Given the description of an element on the screen output the (x, y) to click on. 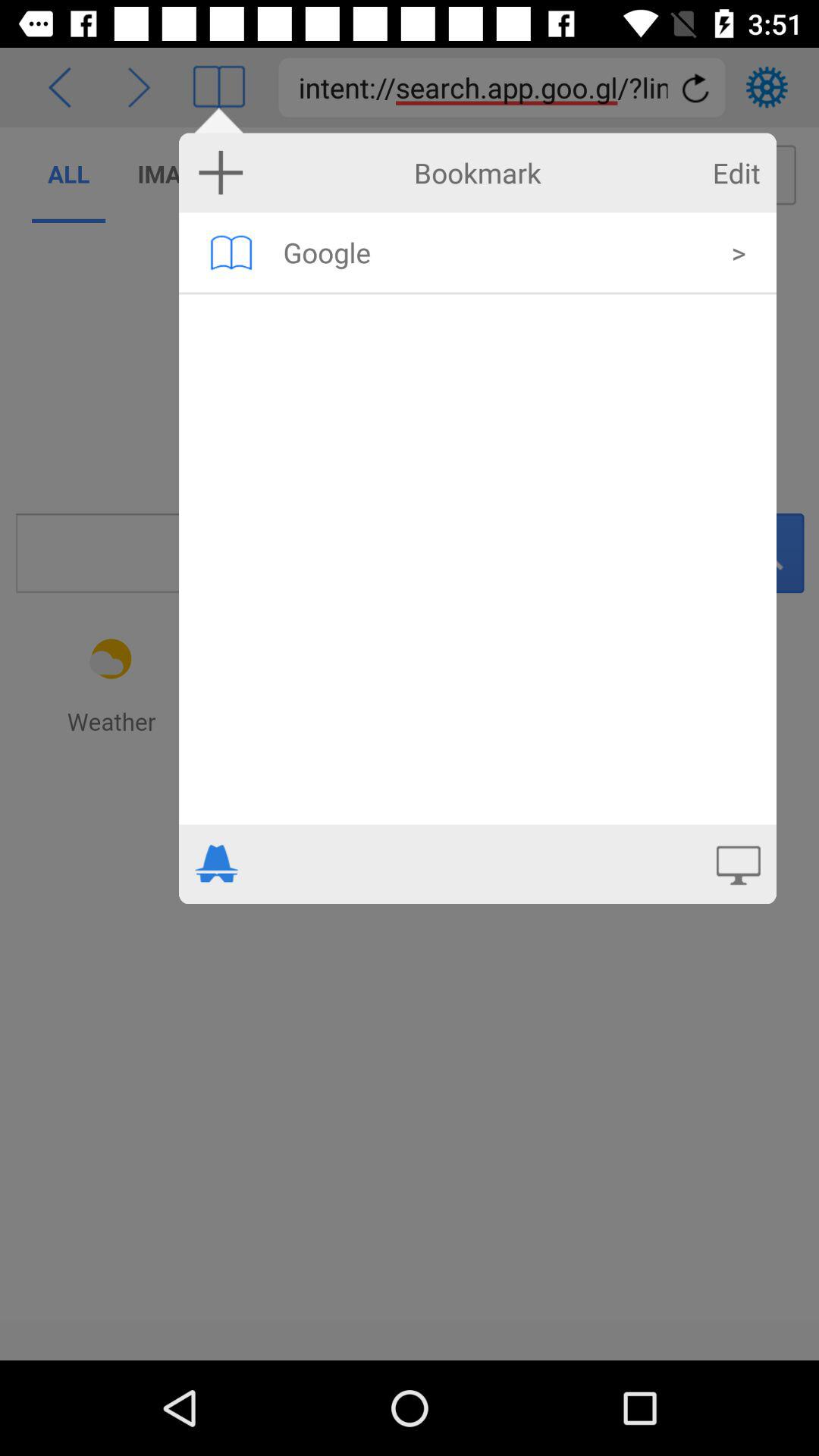
press the google item (497, 252)
